Given the description of an element on the screen output the (x, y) to click on. 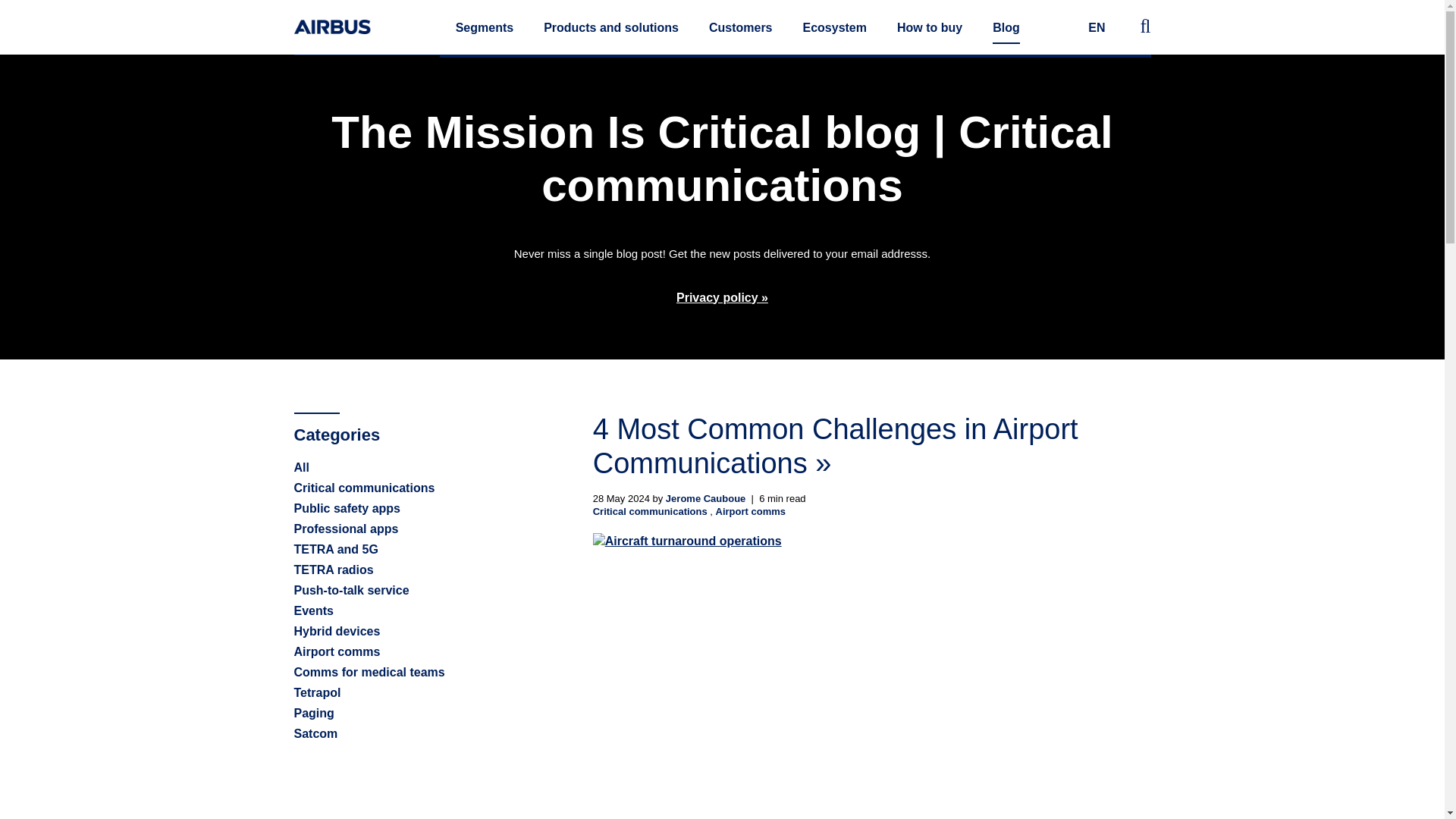
Products and solutions (610, 27)
Airbus-logo (332, 26)
Segments (484, 27)
